Given the description of an element on the screen output the (x, y) to click on. 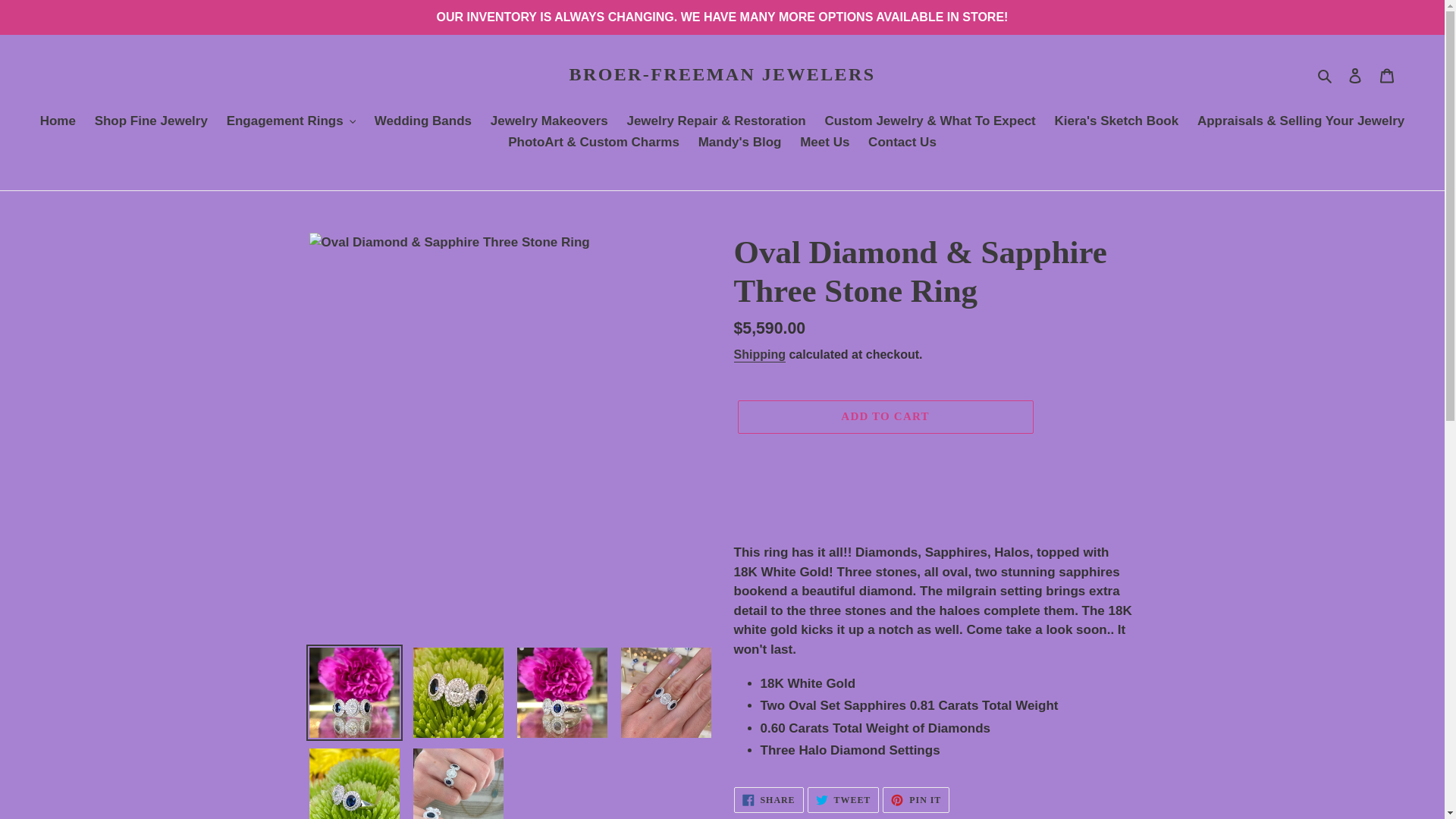
Kiera's Sketch Book (1116, 121)
Shop Fine Jewelry (151, 121)
Wedding Bands (422, 121)
Log in (1355, 74)
Jewelry Makeovers (549, 121)
Home (57, 121)
Cart (1387, 74)
Search (1326, 74)
Mandy's Blog (739, 143)
BROER-FREEMAN JEWELERS (722, 74)
